Given the description of an element on the screen output the (x, y) to click on. 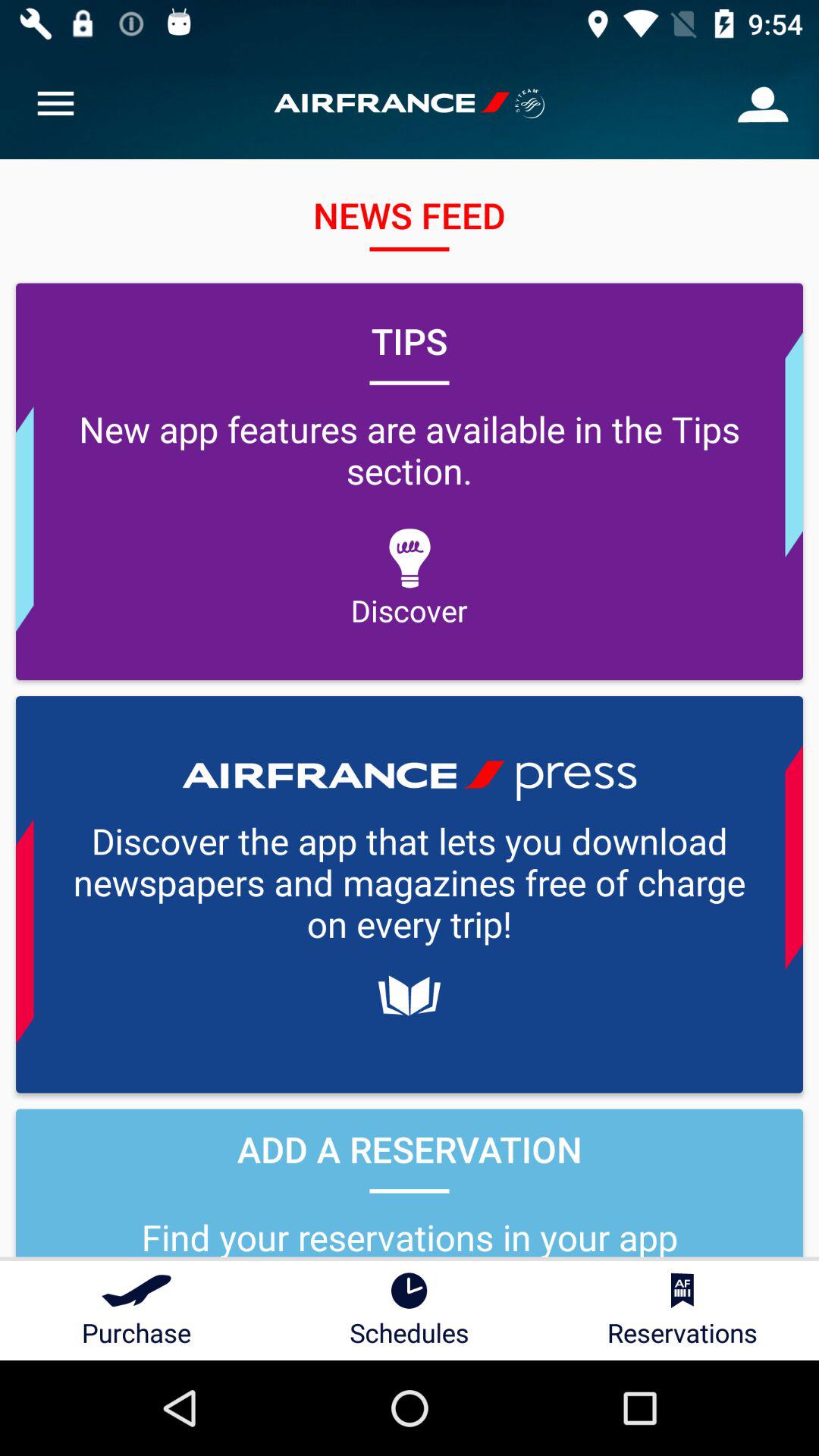
select the purchase (136, 1310)
